Given the description of an element on the screen output the (x, y) to click on. 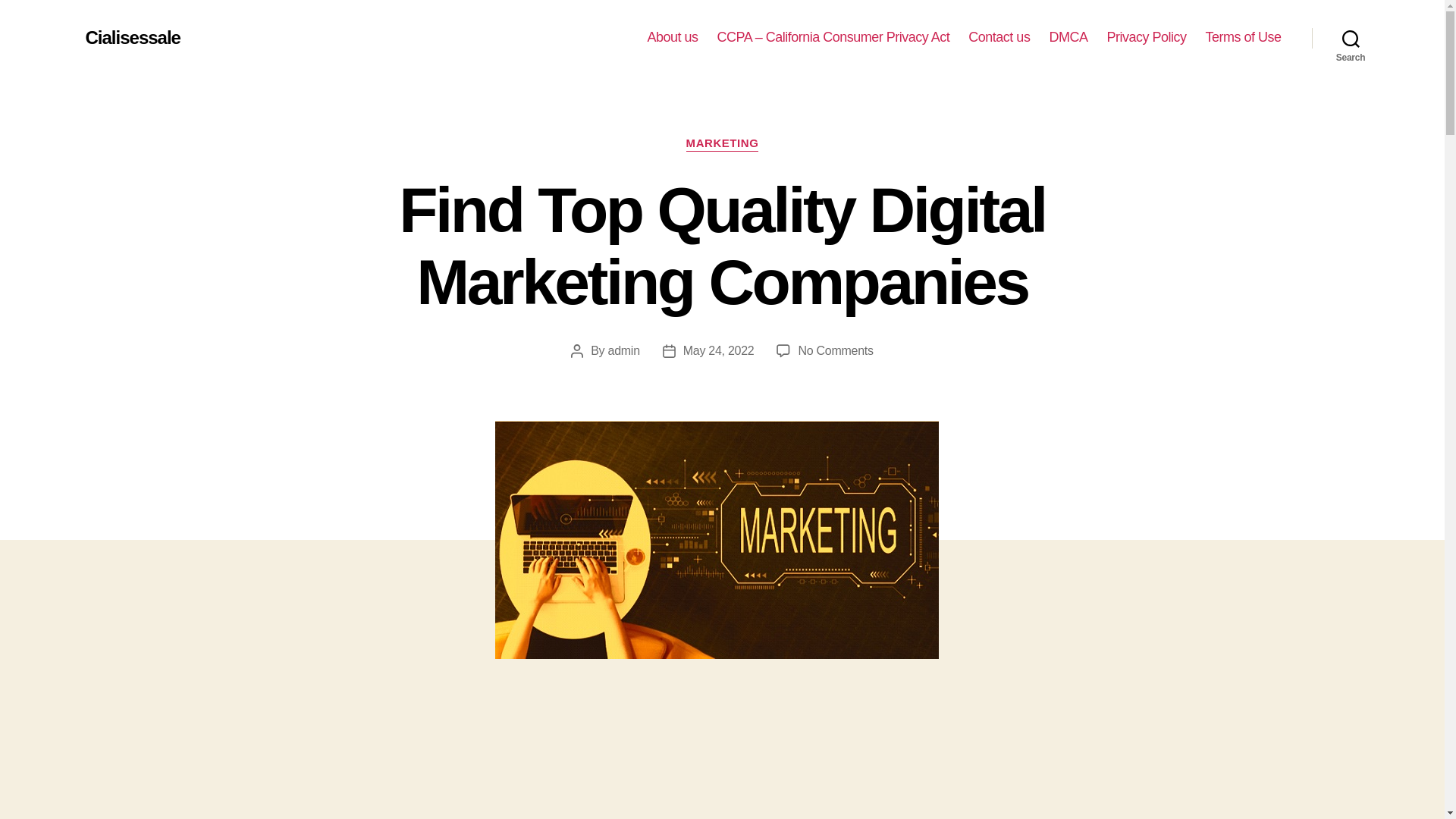
DMCA (1067, 37)
Search (1350, 37)
Privacy Policy (1146, 37)
Terms of Use (1243, 37)
May 24, 2022 (718, 350)
admin (624, 350)
MARKETING (721, 143)
Contact us (998, 37)
Cialisessale (131, 37)
About us (671, 37)
